Given the description of an element on the screen output the (x, y) to click on. 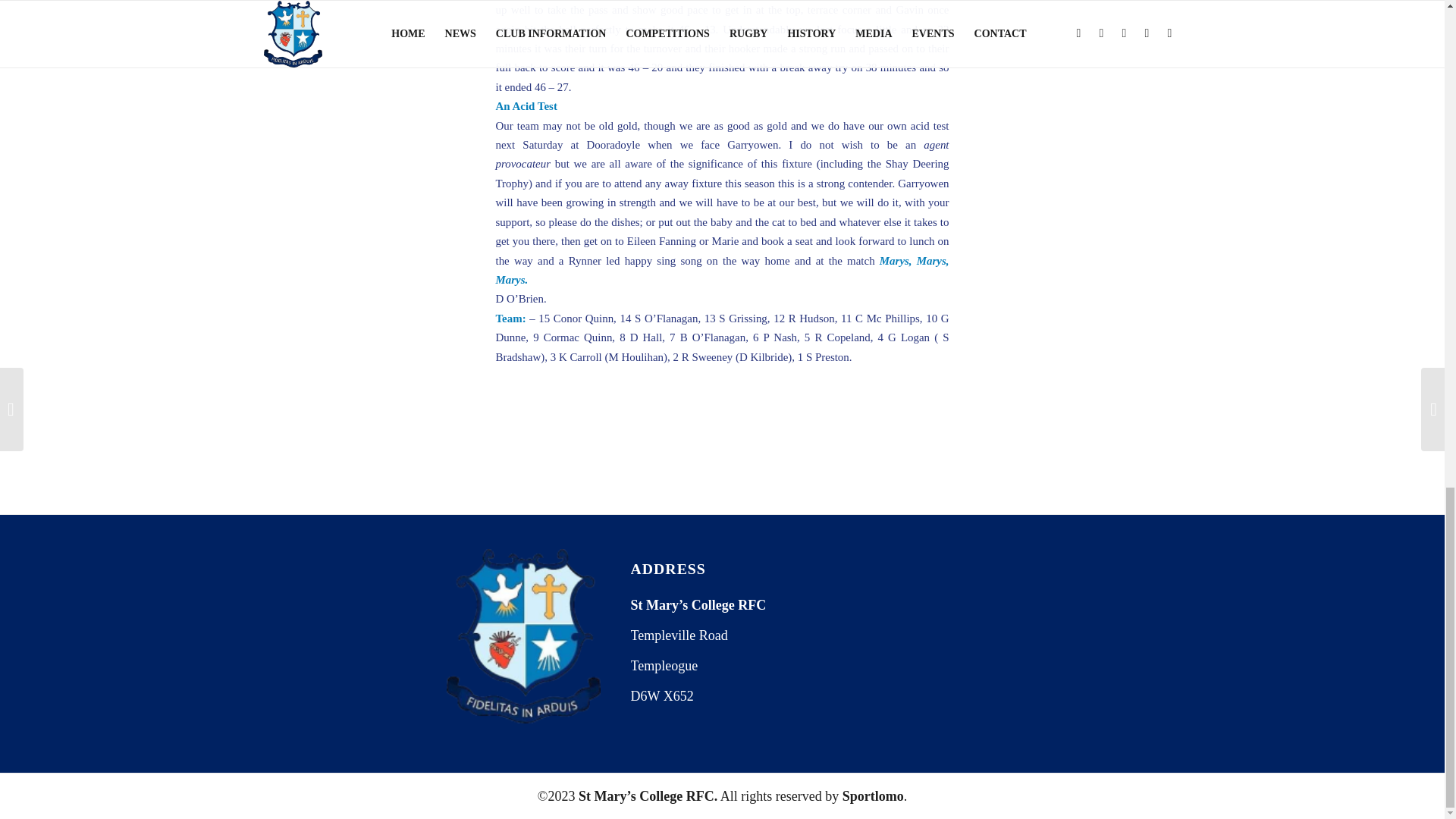
St. Mary's College RFC (927, 605)
